Given the description of an element on the screen output the (x, y) to click on. 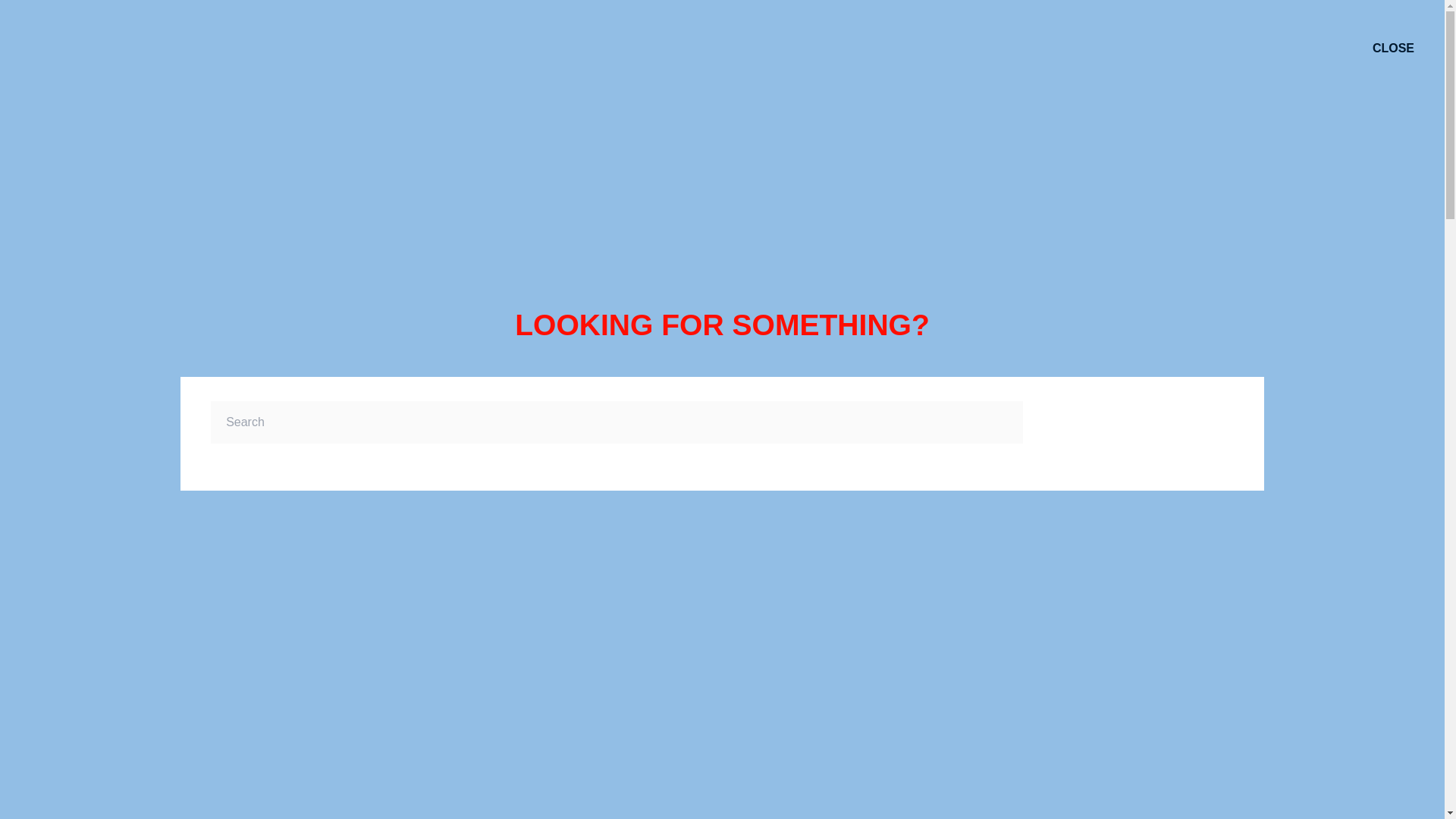
Mental Fitness Charter (563, 396)
The South Australian Masters Games (307, 396)
Training (523, 348)
Spaces for hire (542, 420)
Festival of Sport (250, 445)
Subscribe to Newsletter (125, 675)
Our galleries (95, 420)
Our members (98, 396)
The South Australian Sport Hall of Fame (314, 348)
Log in (223, 626)
